Given the description of an element on the screen output the (x, y) to click on. 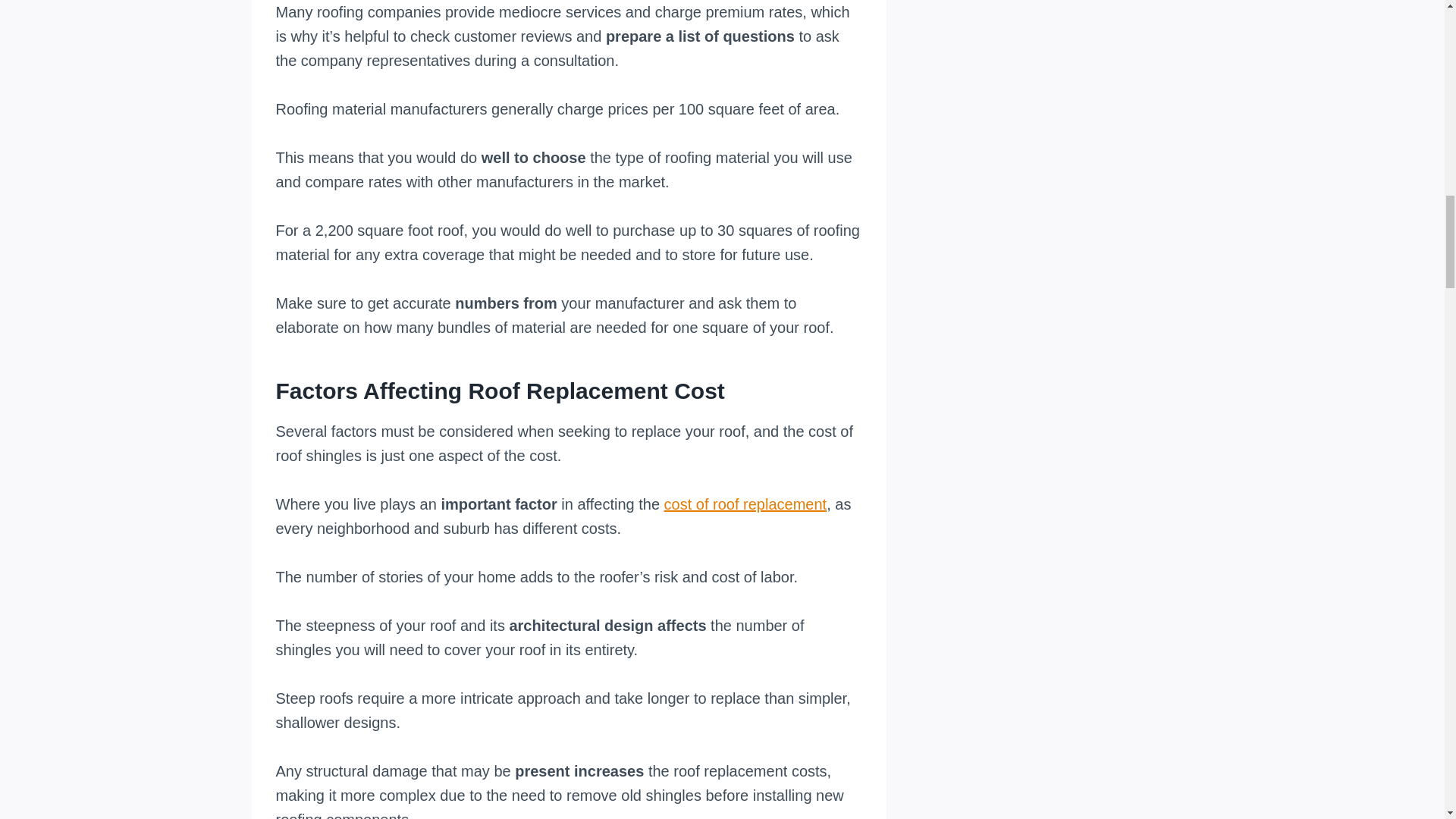
cost of roof replacement (745, 504)
